Given the description of an element on the screen output the (x, y) to click on. 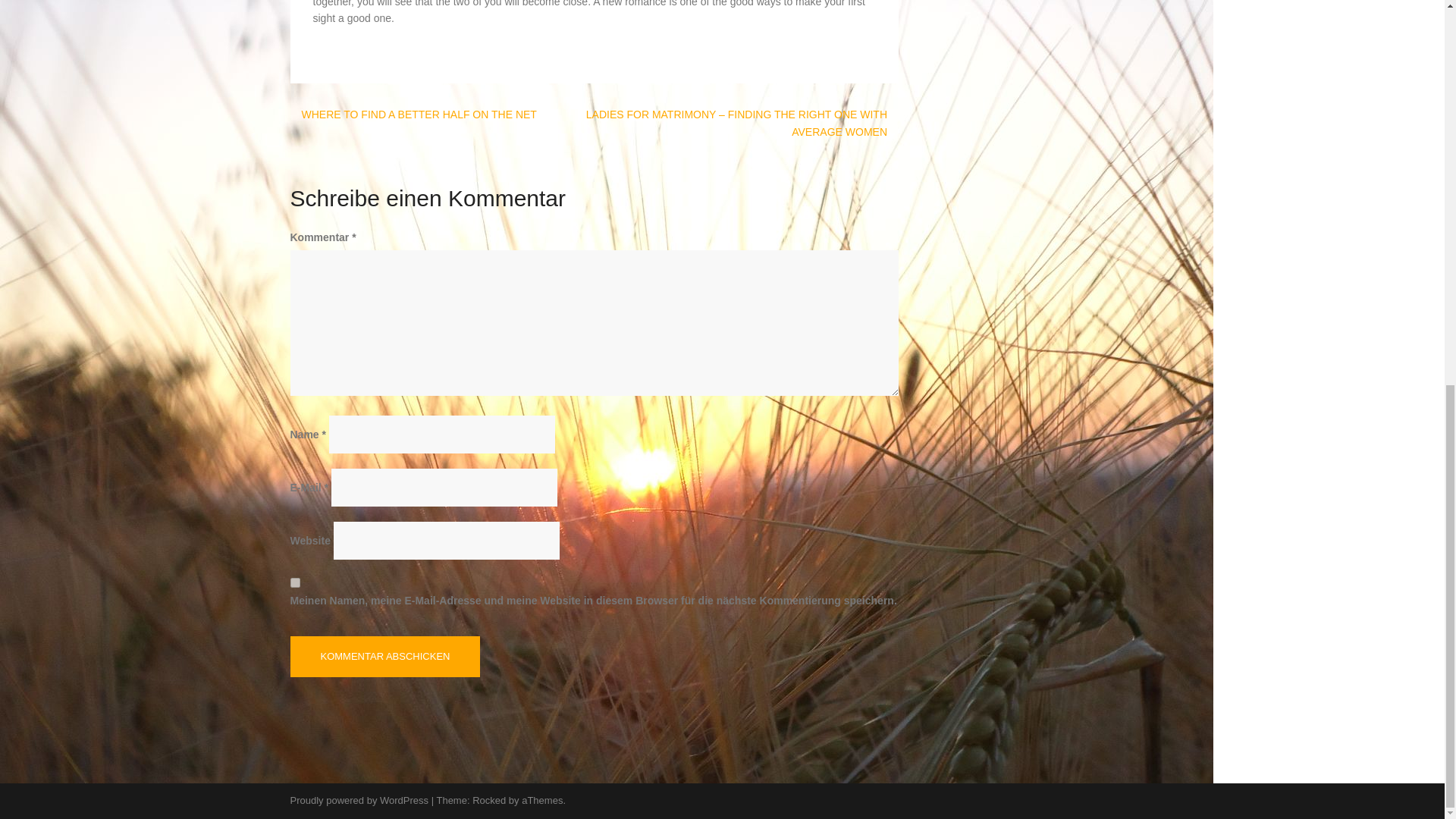
yes (294, 583)
WHERE TO FIND A BETTER HALF ON THE NET (419, 114)
Kommentar abschicken (384, 657)
Proudly powered by WordPress (358, 799)
Kommentar abschicken (384, 657)
Rocked (488, 799)
